Given the description of an element on the screen output the (x, y) to click on. 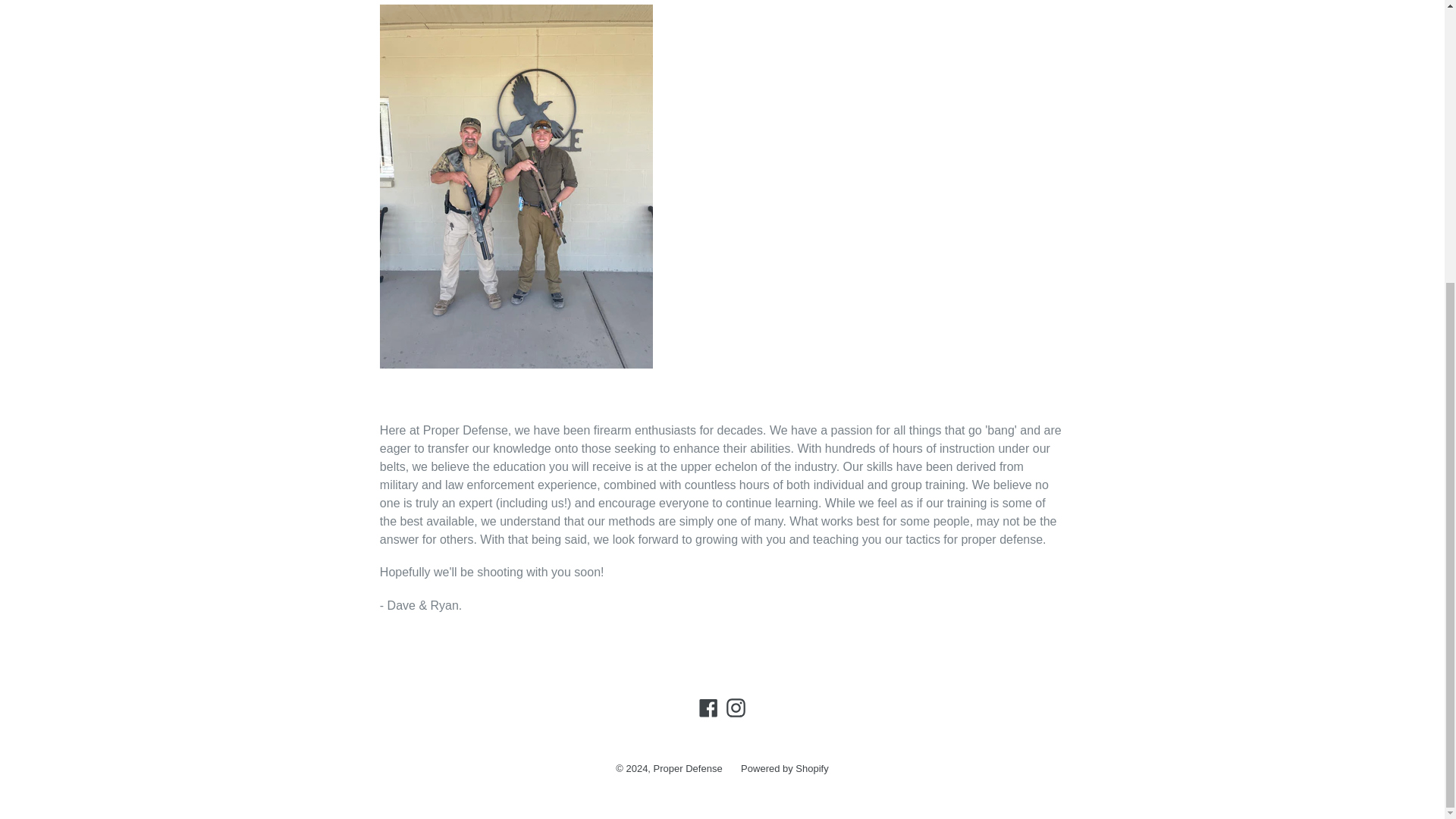
Instagram (735, 707)
Proper Defense on Facebook (708, 707)
Proper Defense on Instagram (735, 707)
Powered by Shopify (784, 767)
Facebook (708, 707)
Proper Defense (687, 767)
